Given the description of an element on the screen output the (x, y) to click on. 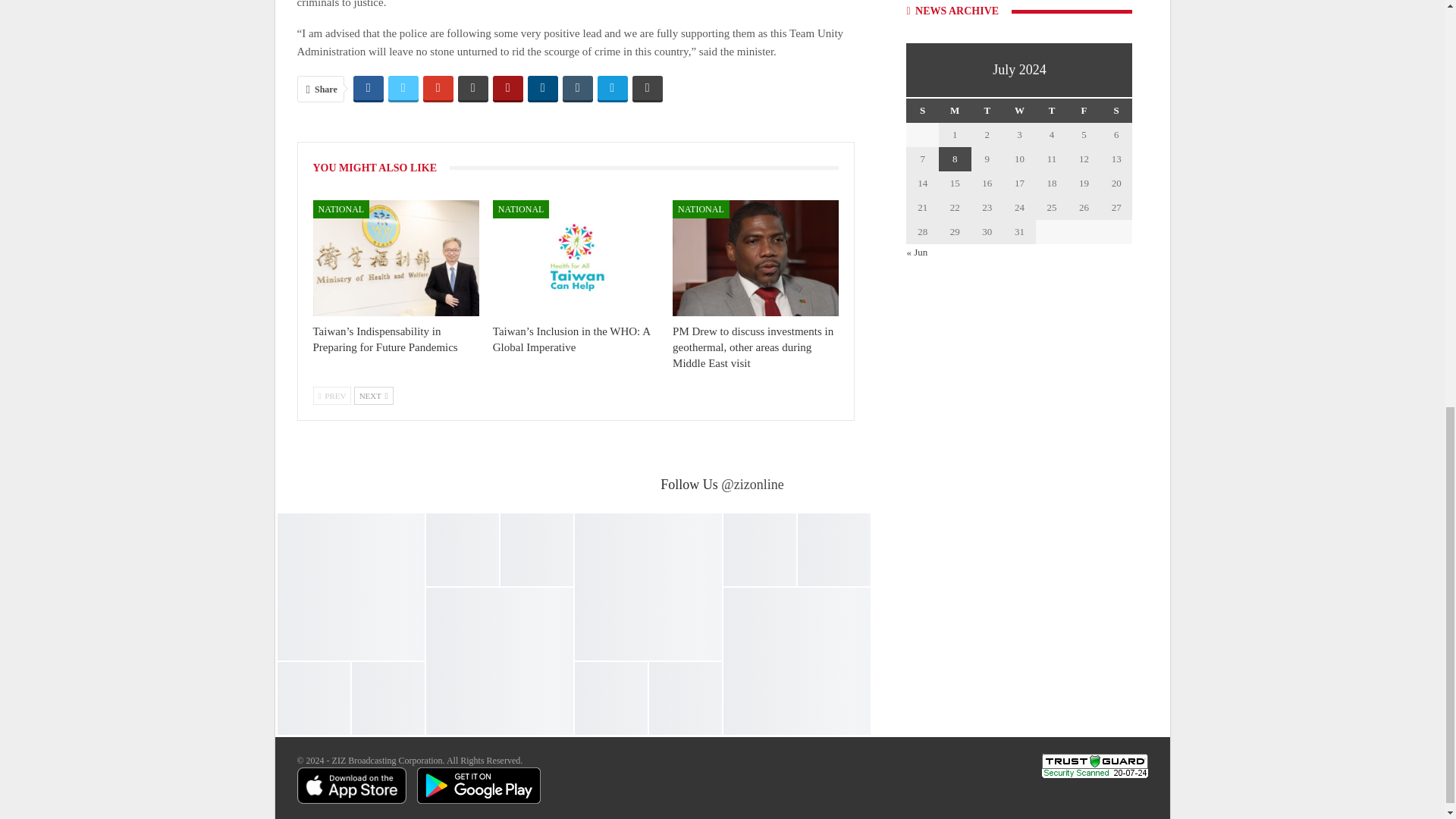
Sunday (922, 110)
Previous (331, 395)
Thursday (1051, 110)
Monday (955, 110)
Next (373, 395)
Wednesday (1019, 110)
Tuesday (987, 110)
